Given the description of an element on the screen output the (x, y) to click on. 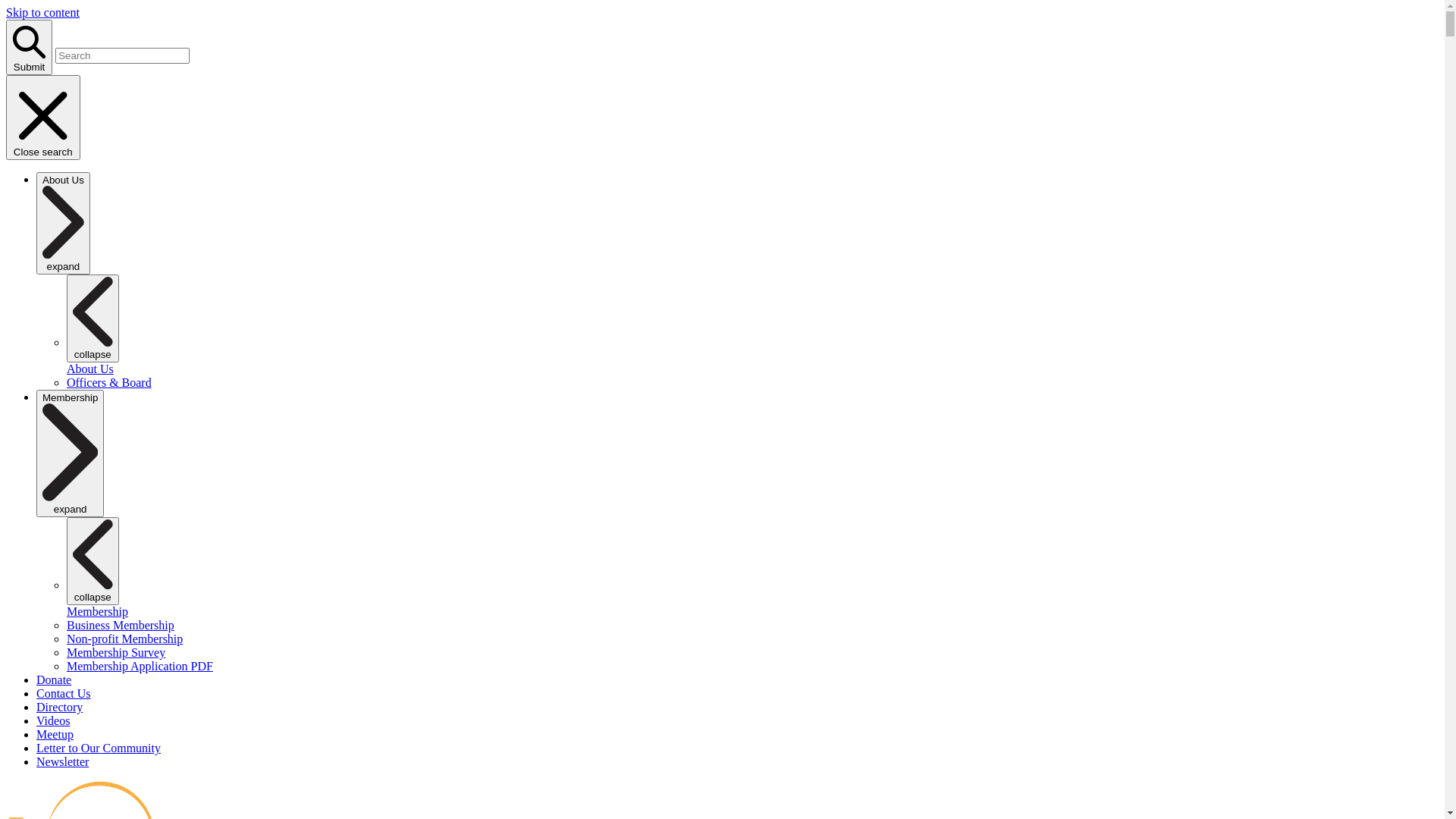
Contact Us Element type: text (63, 693)
Meetup Element type: text (54, 734)
Directory Element type: text (59, 706)
Submit Element type: text (29, 47)
Close search Element type: text (43, 117)
Newsletter Element type: text (62, 761)
Officers & Board Element type: text (108, 382)
Letter to Our Community Element type: text (98, 747)
Membership Survey Element type: text (115, 652)
Skip to content Element type: text (42, 12)
Membership Application PDF Element type: text (139, 665)
Business Membership Element type: text (120, 624)
Membership Element type: text (97, 611)
About Us Element type: text (89, 368)
Non-profit Membership Element type: text (124, 638)
Videos Element type: text (52, 720)
Donate Element type: text (53, 679)
